Given the description of an element on the screen output the (x, y) to click on. 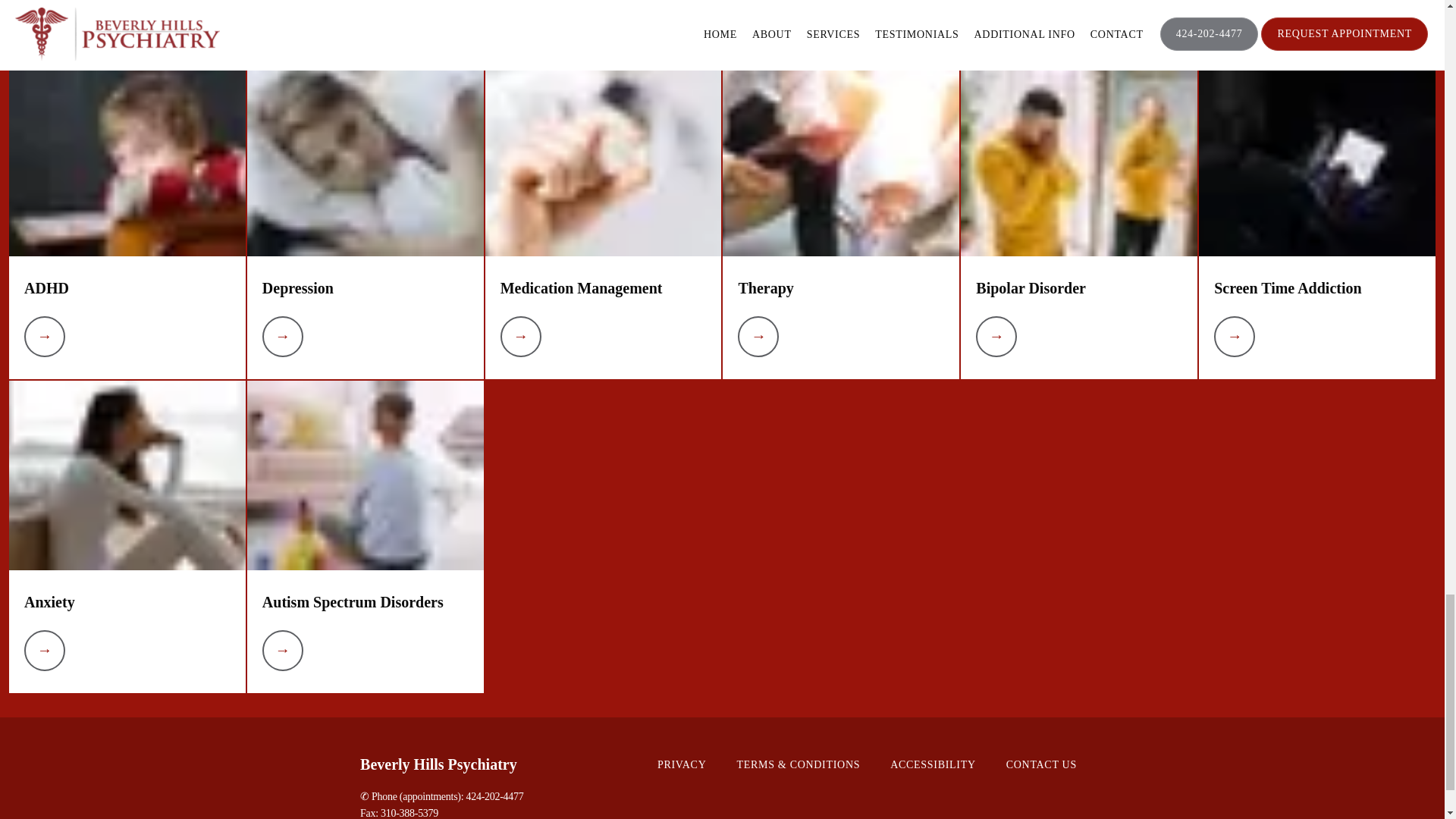
ADHD (46, 287)
Anxiety (49, 602)
Medication Management (581, 287)
Bipolar Disorder (1030, 287)
Depression (297, 287)
Screen Time Addiction (1287, 287)
Therapy (765, 287)
